Given the description of an element on the screen output the (x, y) to click on. 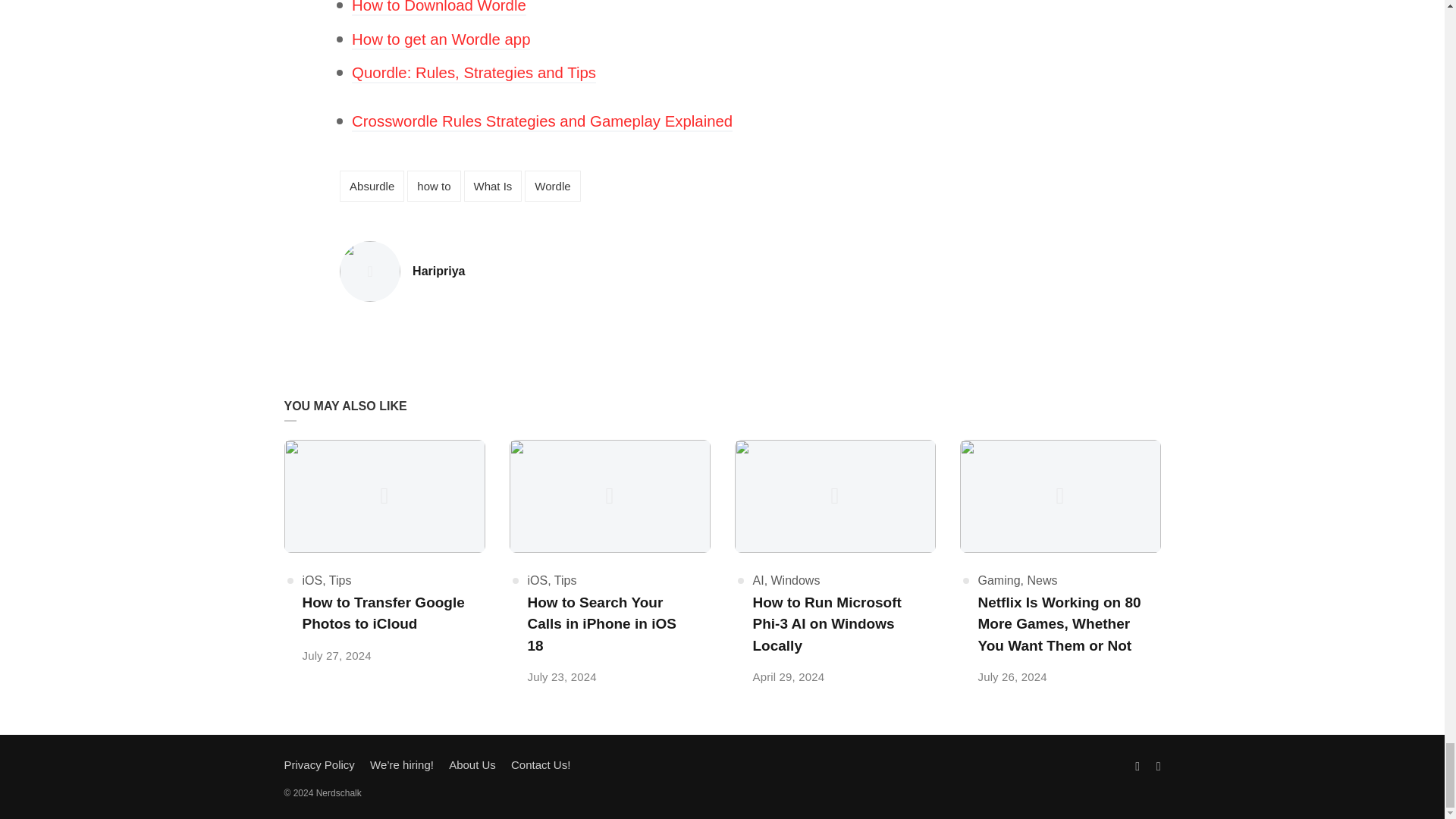
Wordle (438, 270)
How to get an Wordle app (551, 185)
Absurdle (440, 40)
Crosswordle Rules Strategies and Gameplay Explained (371, 185)
Quordle: Rules, Strategies and Tips (542, 122)
What Is (473, 73)
How to Download Wordle (493, 185)
how to (438, 7)
